Given the description of an element on the screen output the (x, y) to click on. 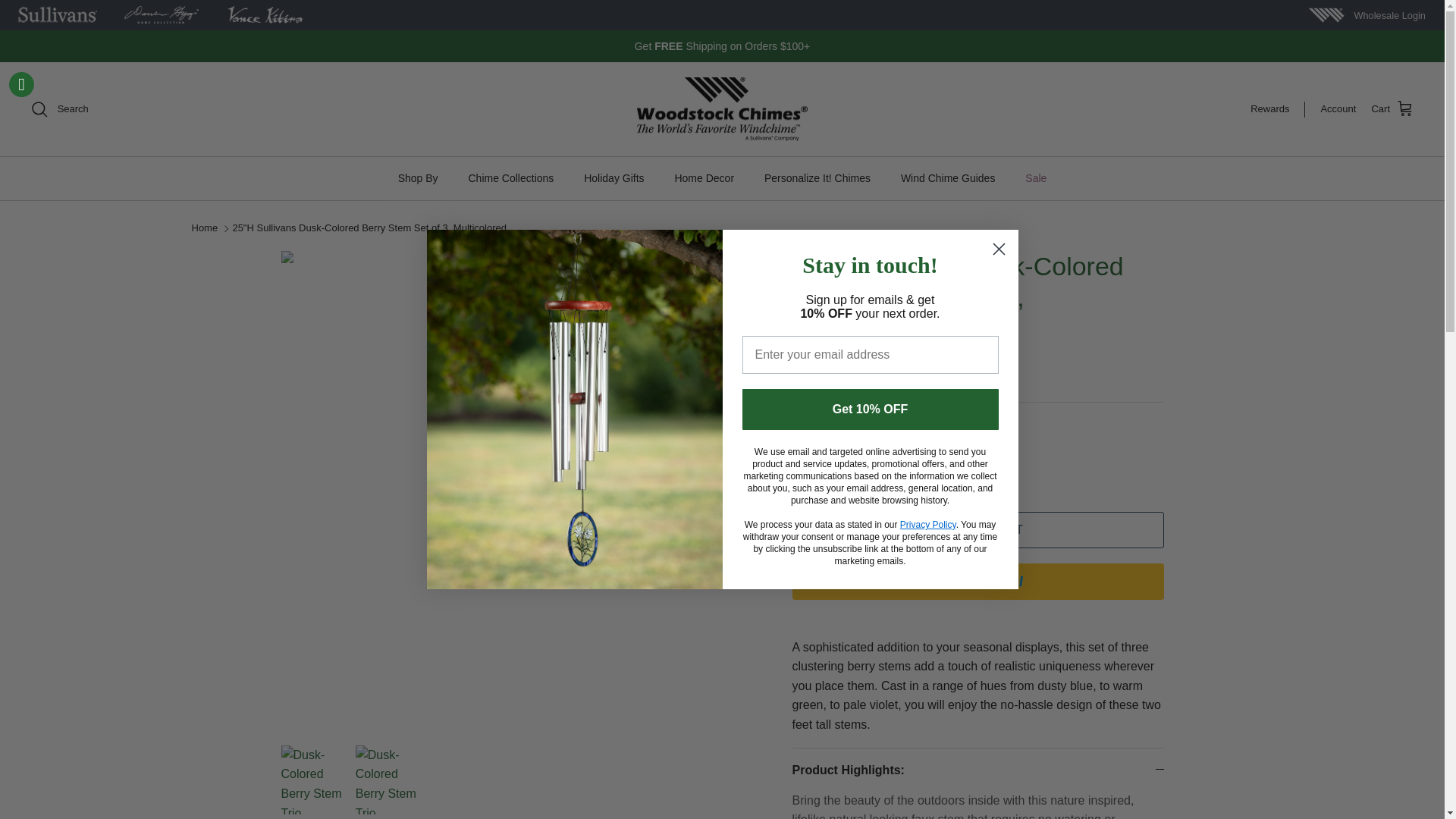
Account (1337, 109)
Search (59, 108)
RIGHT (741, 489)
Rewards (1277, 109)
Woodstock Chimes (722, 108)
Close dialog 1 (998, 248)
1 (853, 463)
Cart (1392, 108)
Plus (897, 462)
Shop By (417, 178)
Minus (809, 462)
Wholesale Login (1389, 15)
